Given the description of an element on the screen output the (x, y) to click on. 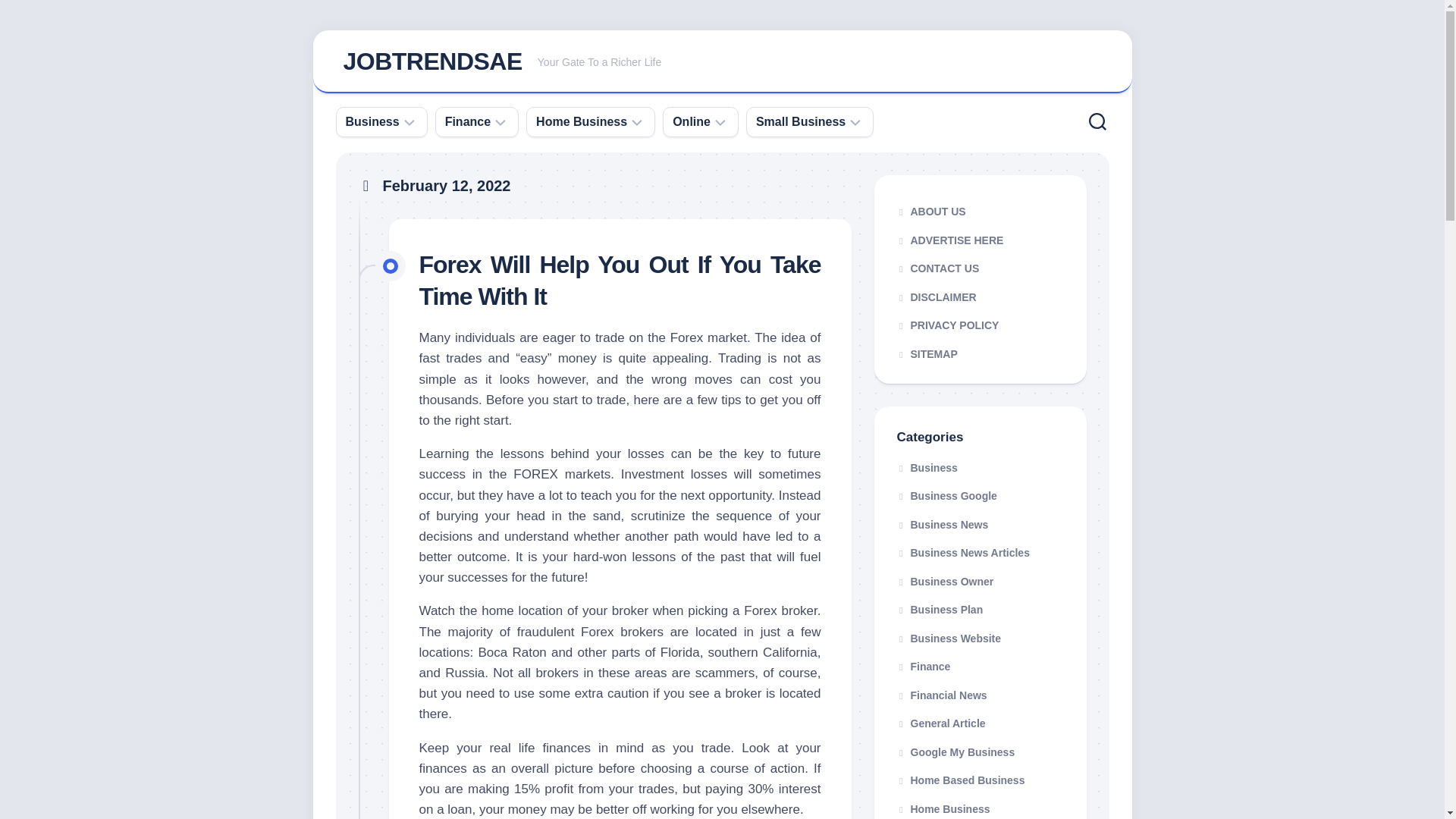
Home Business (581, 121)
Small Business (722, 62)
Finance (800, 121)
CONTACT US (467, 121)
JOBTRENDSAE (979, 268)
Business (431, 61)
Forex Will Help You Out If You Take Time With It (372, 121)
ADVERTISE HERE (620, 280)
ABOUT US (979, 240)
